Given the description of an element on the screen output the (x, y) to click on. 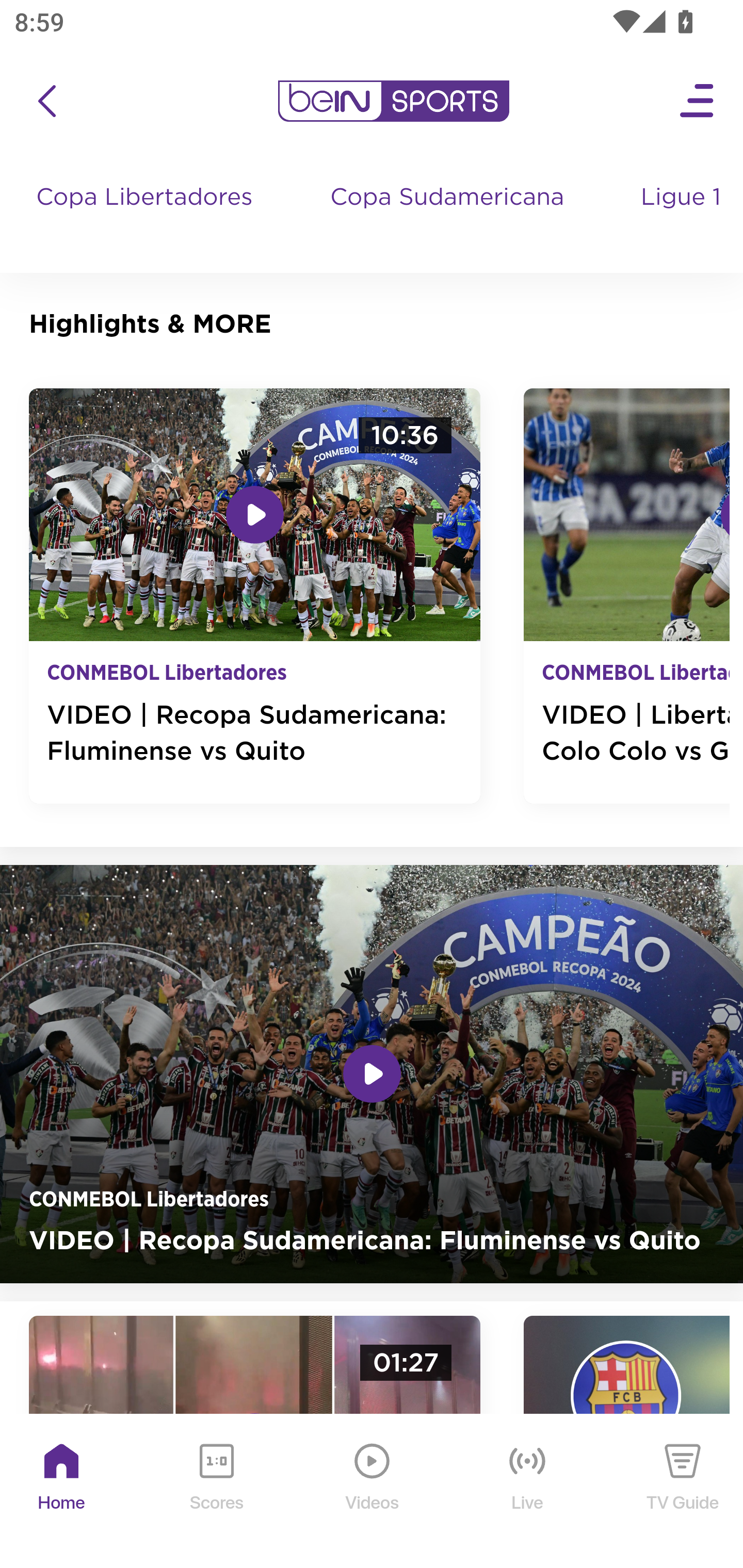
en-us?platform=mobile_android bein logo (392, 101)
icon back (46, 101)
Open Menu Icon (697, 101)
Copa Libertadores (146, 216)
Copa Sudamericana (448, 216)
Ligue 1 (682, 216)
Home Home Icon Home (61, 1491)
Scores Scores Icon Scores (216, 1491)
Videos Videos Icon Videos (372, 1491)
TV Guide TV Guide Icon TV Guide (682, 1491)
